Given the description of an element on the screen output the (x, y) to click on. 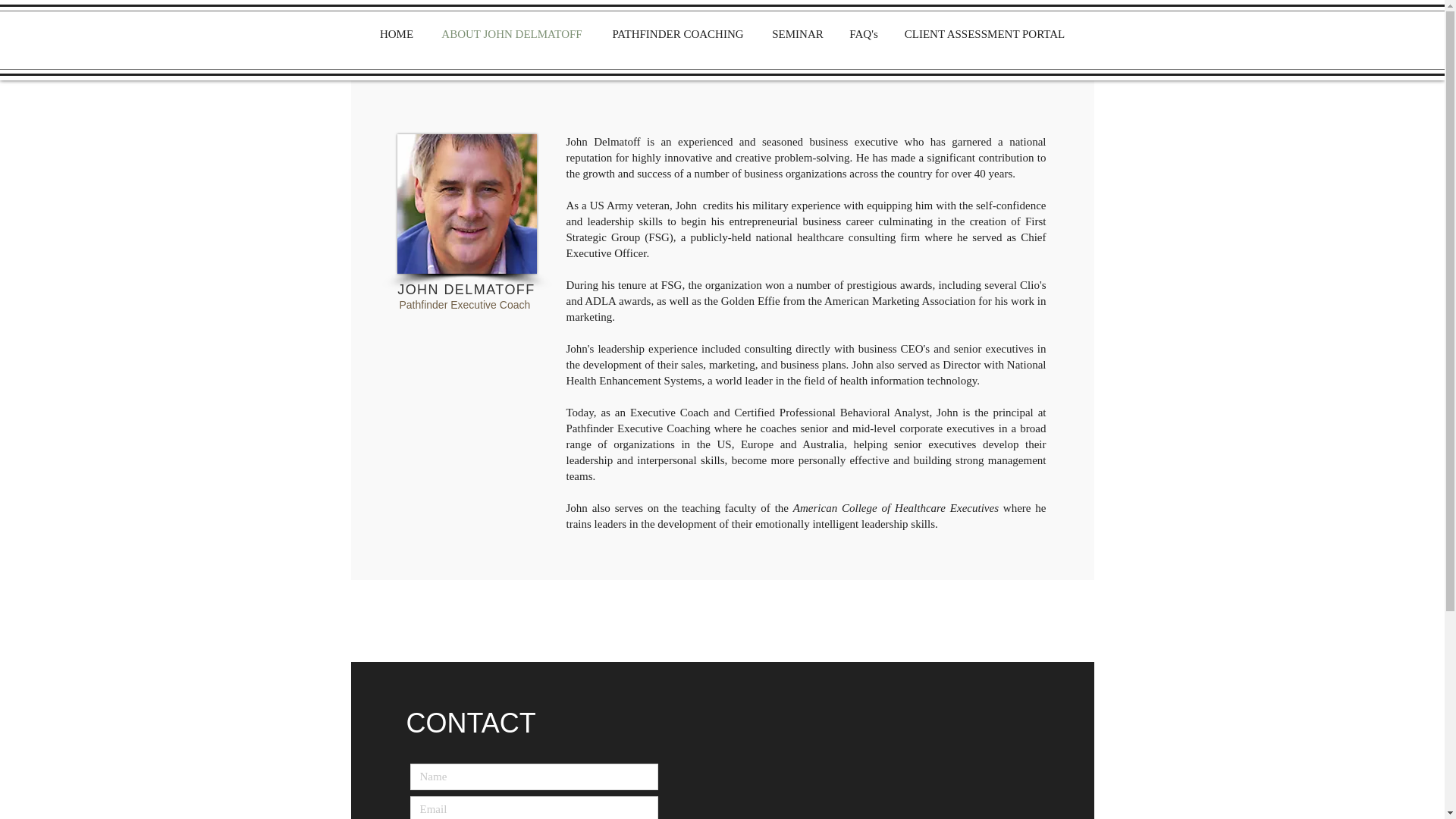
FAQ's (863, 34)
ABOUT JOHN DELMATOFF (511, 34)
PATHFINDER COACHING (677, 34)
SEMINAR (796, 34)
CLIENT ASSESSMENT PORTAL (984, 34)
HOME (396, 34)
